Given the description of an element on the screen output the (x, y) to click on. 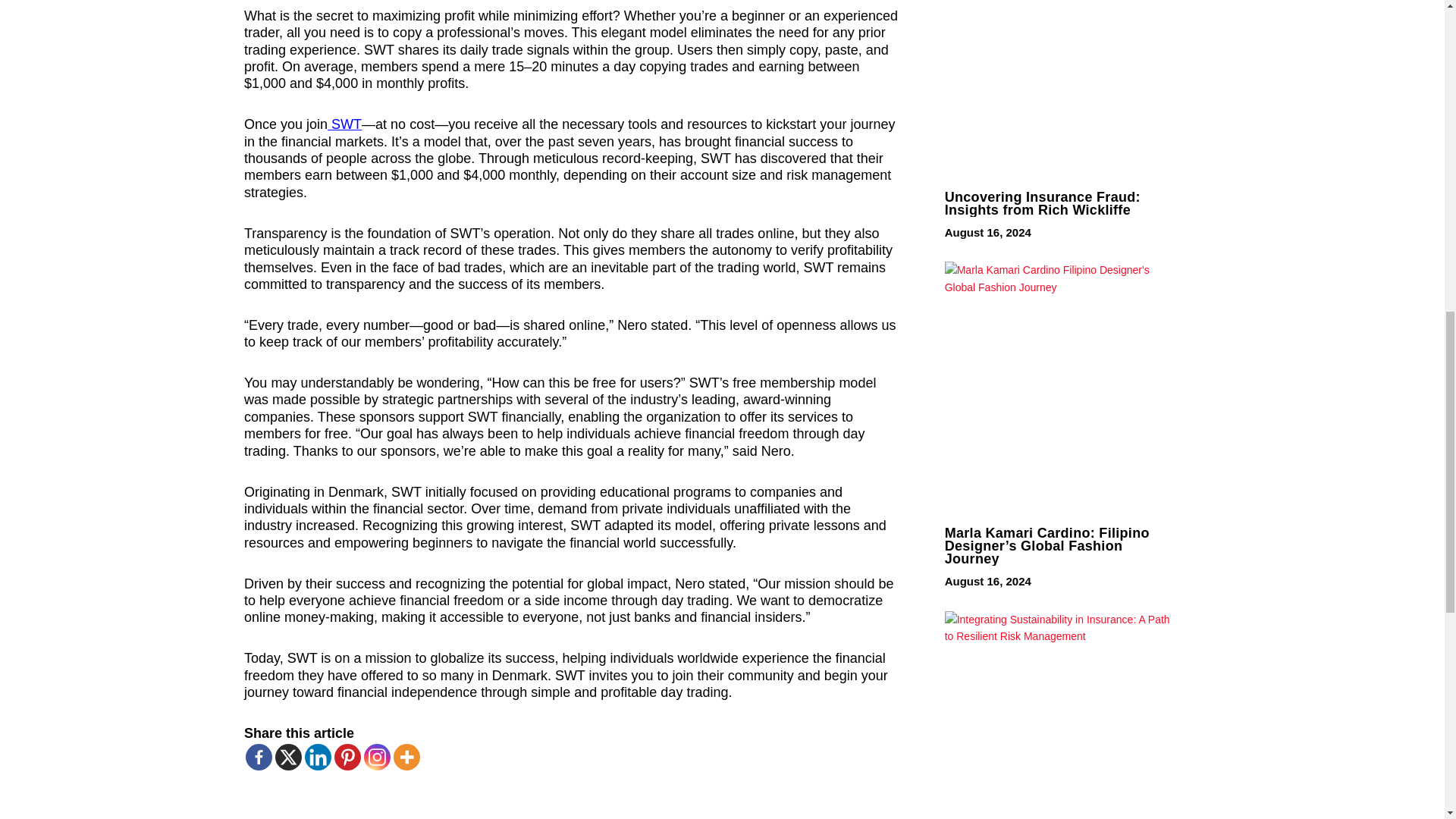
Facebook (259, 756)
Pinterest (347, 756)
Instagram (377, 756)
Linkedin (317, 756)
More (406, 756)
X (288, 756)
